Given the description of an element on the screen output the (x, y) to click on. 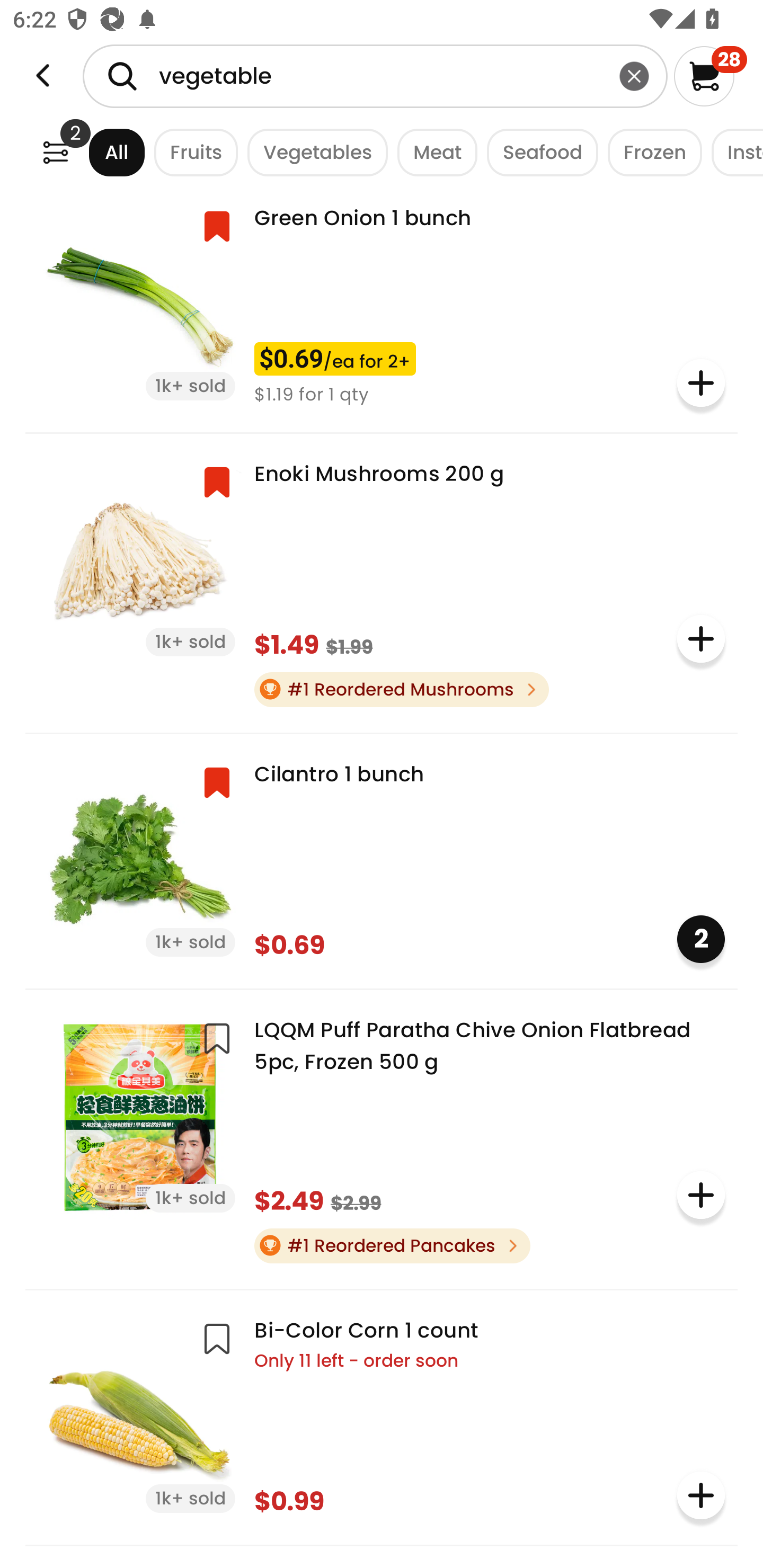
vegetable (374, 75)
28 (709, 75)
Weee! (42, 76)
Weee! (55, 151)
All (99, 151)
Fruits (191, 151)
Vegetables (312, 151)
Meat (432, 151)
Seafood (537, 151)
Frozen (649, 151)
Cilantro 1 bunch 1k+ sold $0.69 2 (381, 859)
2 (700, 938)
